Given the description of an element on the screen output the (x, y) to click on. 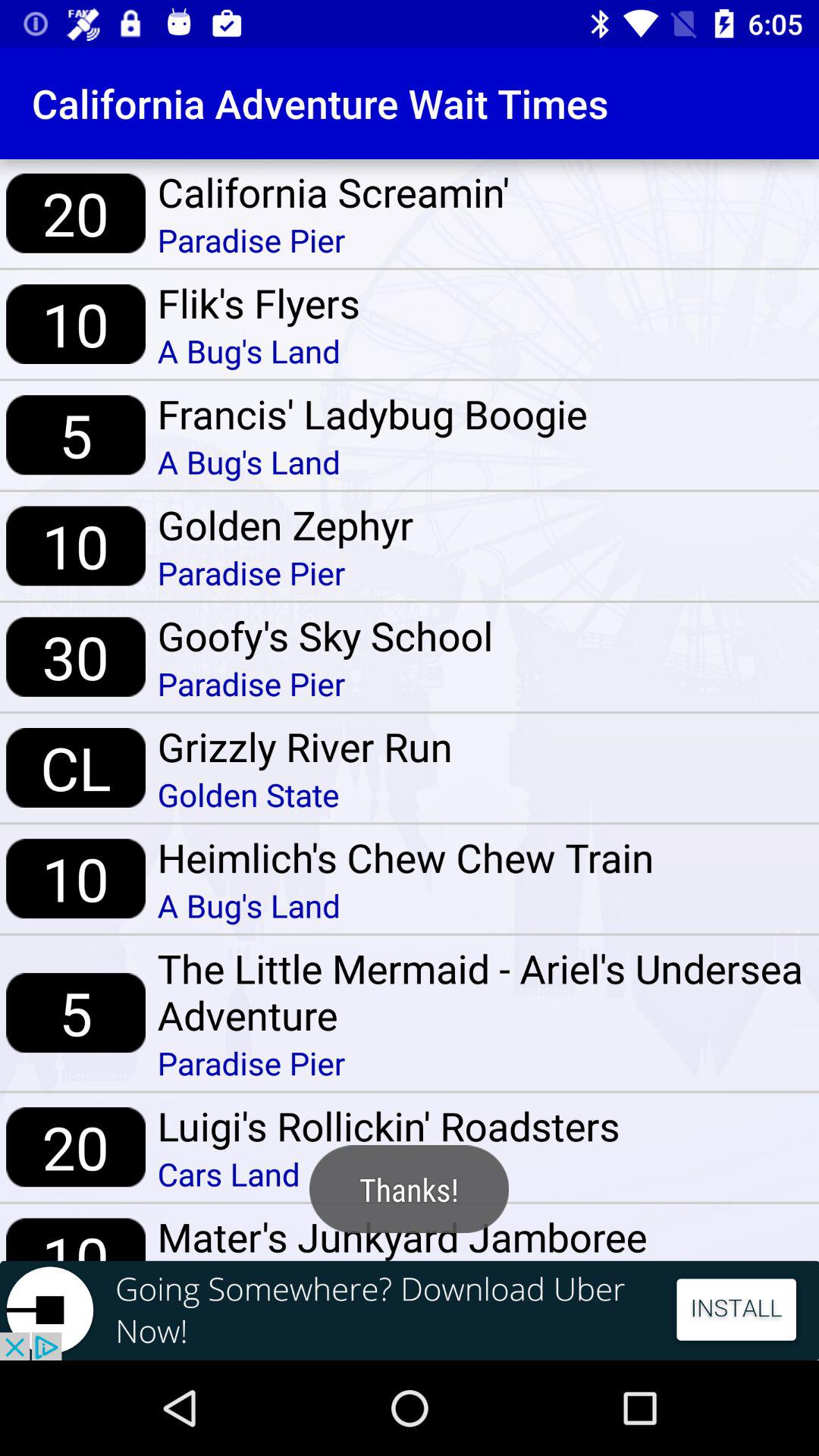
swipe until flik's flyers icon (258, 302)
